Given the description of an element on the screen output the (x, y) to click on. 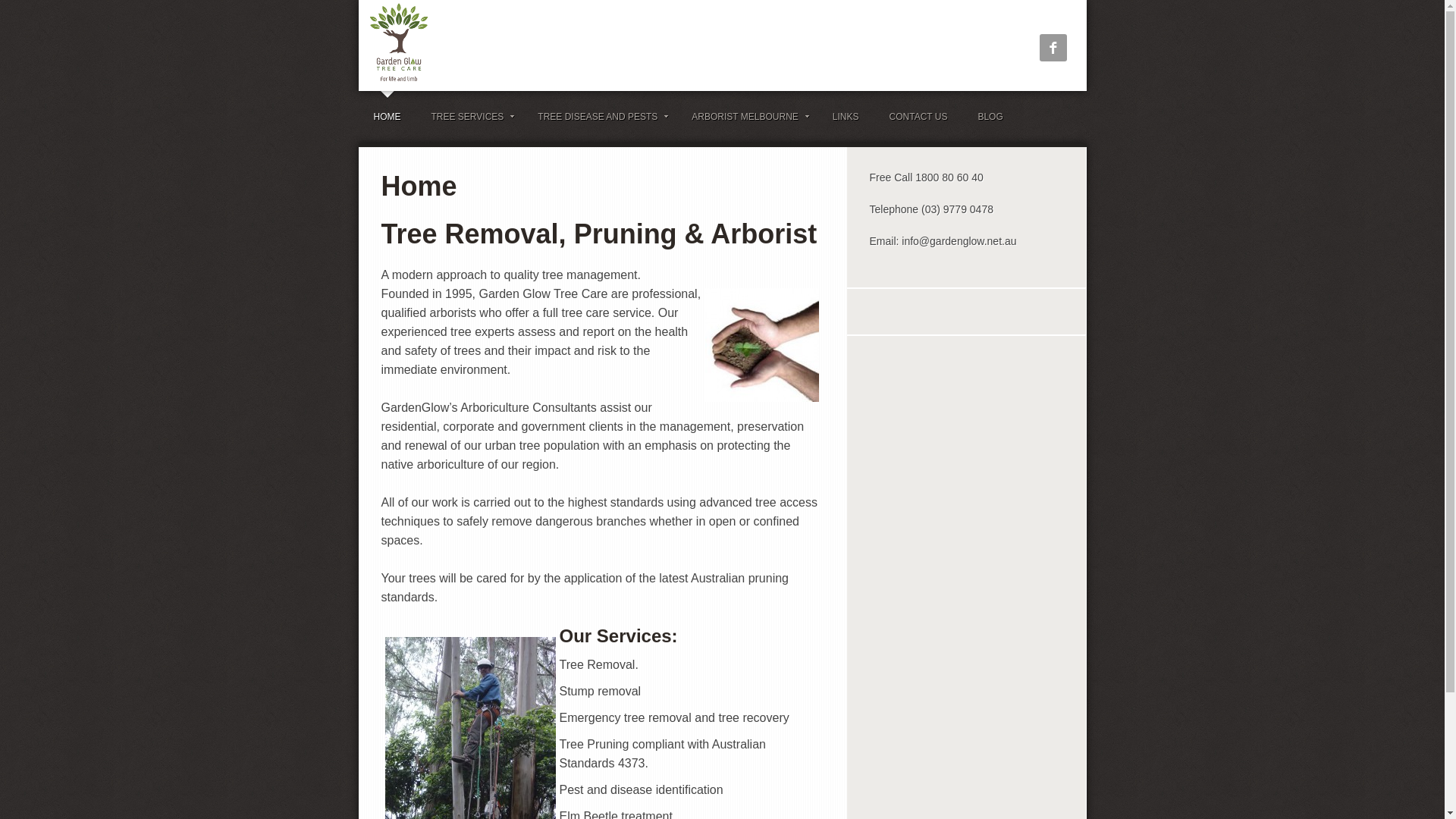
BLOG Element type: text (989, 117)
HOME Element type: text (386, 117)
CONTACT US Element type: text (918, 117)
GARDENGLOW Element type: text (547, 45)
LINKS Element type: text (845, 117)
